Given the description of an element on the screen output the (x, y) to click on. 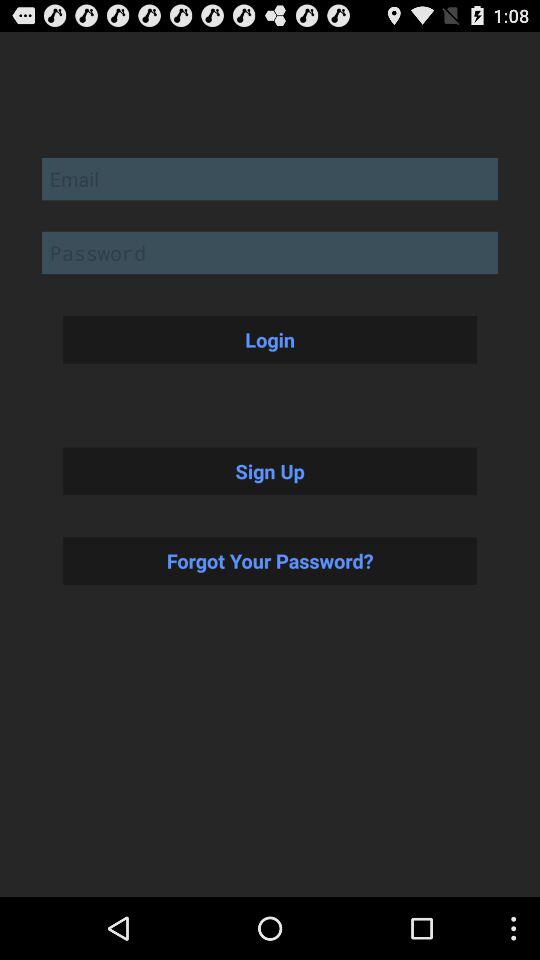
scroll until sign up (269, 471)
